Given the description of an element on the screen output the (x, y) to click on. 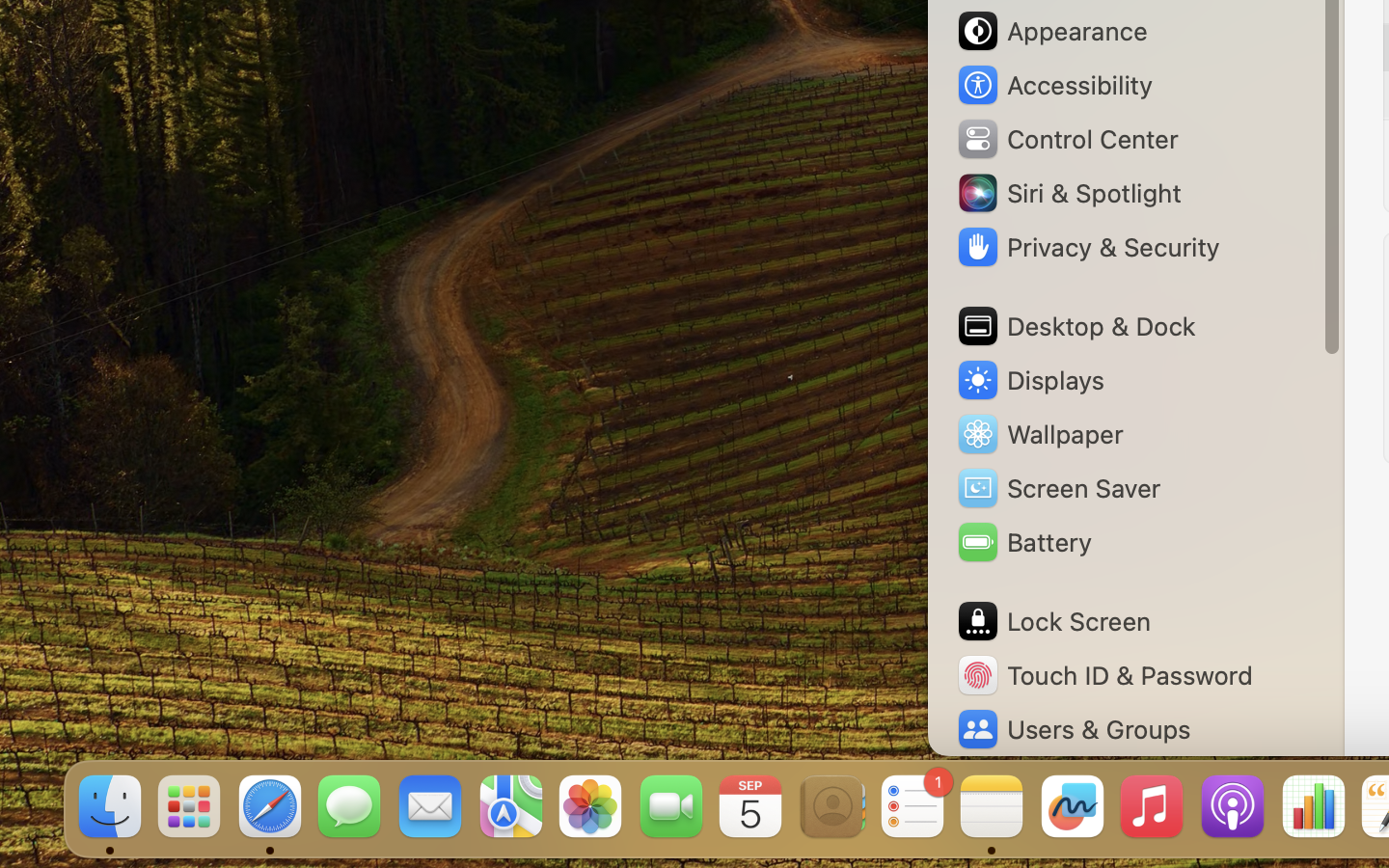
Battery Element type: AXStaticText (1022, 541)
Siri & Spotlight Element type: AXStaticText (1067, 192)
Desktop & Dock Element type: AXStaticText (1075, 325)
Touch ID & Password Element type: AXStaticText (1103, 674)
Accessibility Element type: AXStaticText (1053, 84)
